Given the description of an element on the screen output the (x, y) to click on. 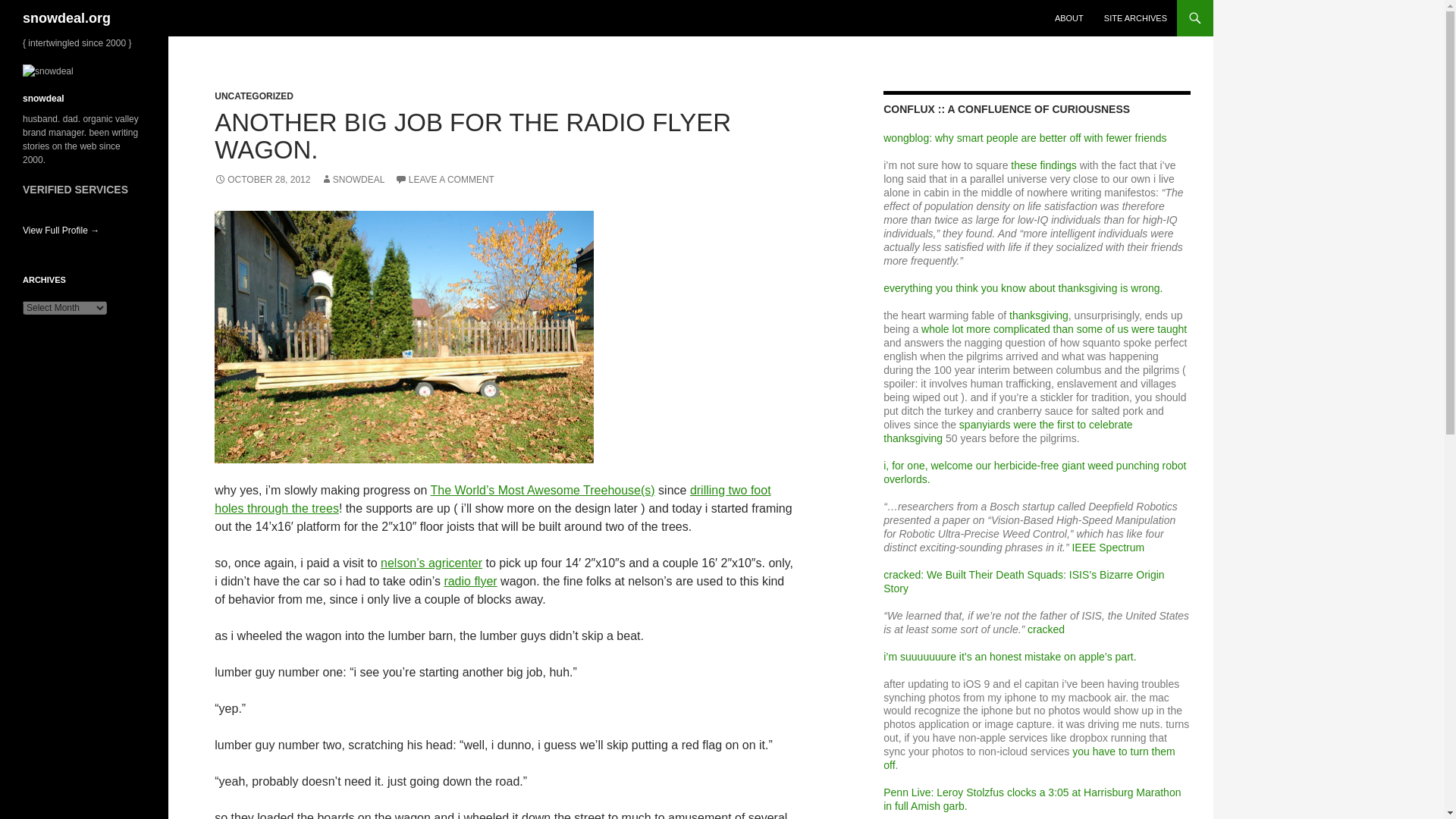
SNOWDEAL (352, 179)
SITE ARCHIVES (1135, 18)
OCTOBER 28, 2012 (262, 179)
ABOUT (1069, 18)
whole lot more complicated than some of us were taught (1053, 328)
drilling two foot holes through the trees (492, 499)
radio flyer (470, 581)
snowdeal.org (66, 18)
you have to turn them off (1028, 758)
everything you think you know about thanksgiving is wrong. (1022, 287)
UNCATEGORIZED (254, 95)
thanksgiving (1038, 315)
